Given the description of an element on the screen output the (x, y) to click on. 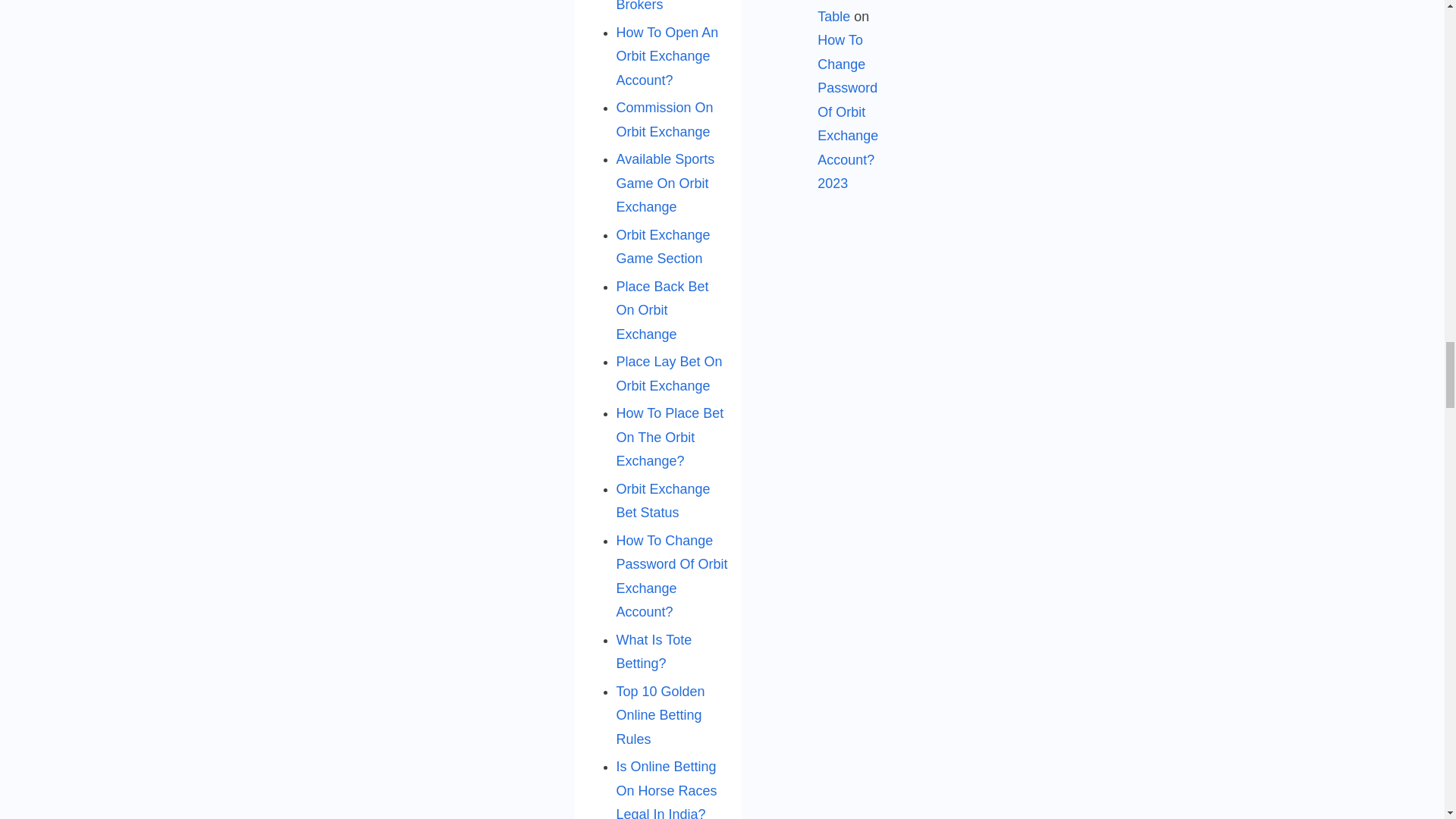
How To Open An Orbit Exchange Account? (666, 56)
Commission On Orbit Exchange (664, 119)
Orbit Exchange Brokers (662, 6)
